Given the description of an element on the screen output the (x, y) to click on. 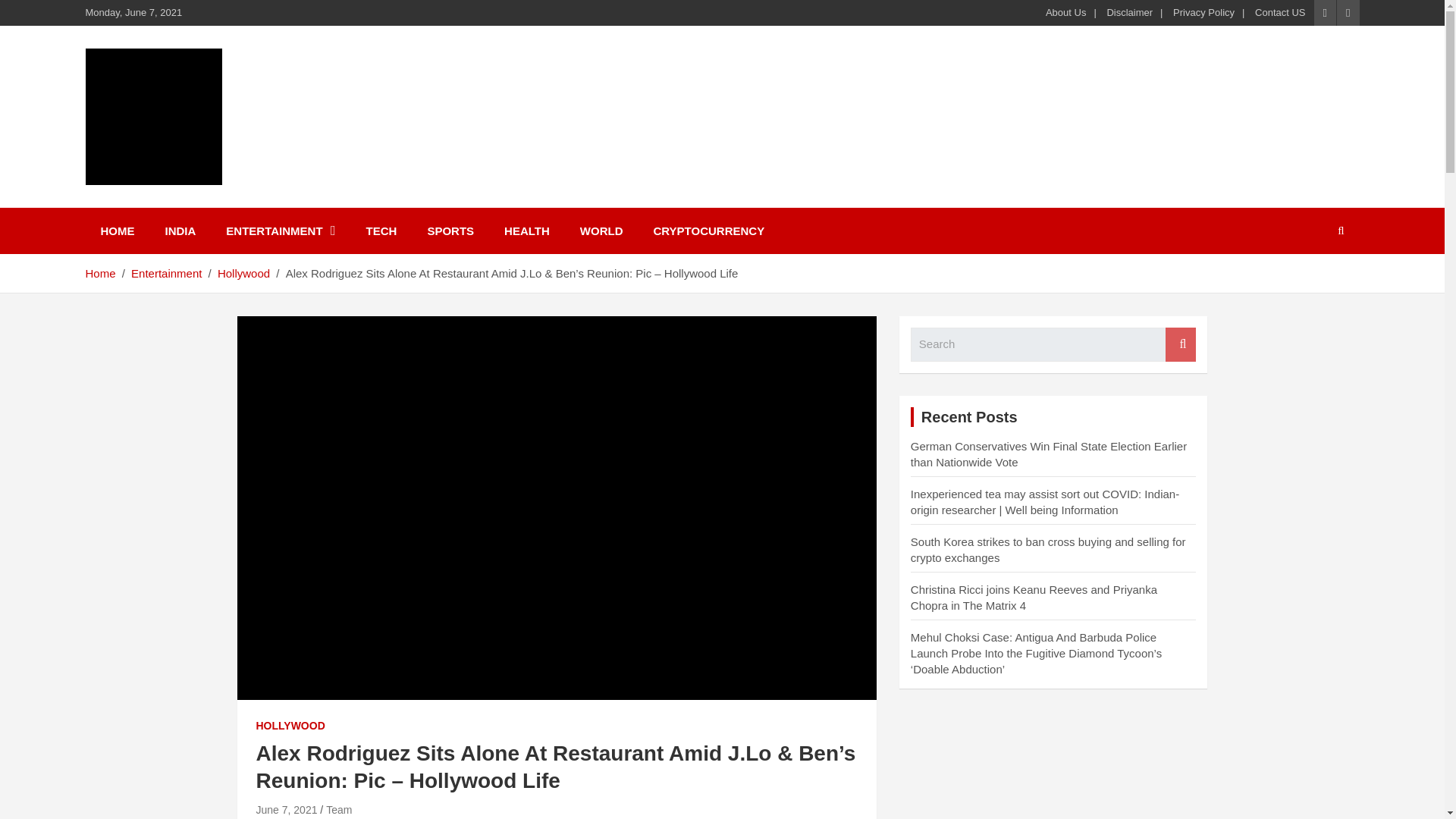
Home (99, 273)
HOME (116, 230)
Disclaimer (1129, 12)
Contact US (1279, 12)
CRYPTOCURRENCY (707, 230)
Hollywood (242, 273)
HEALTH (526, 230)
June 7, 2021 (286, 809)
WORLD (601, 230)
